Given the description of an element on the screen output the (x, y) to click on. 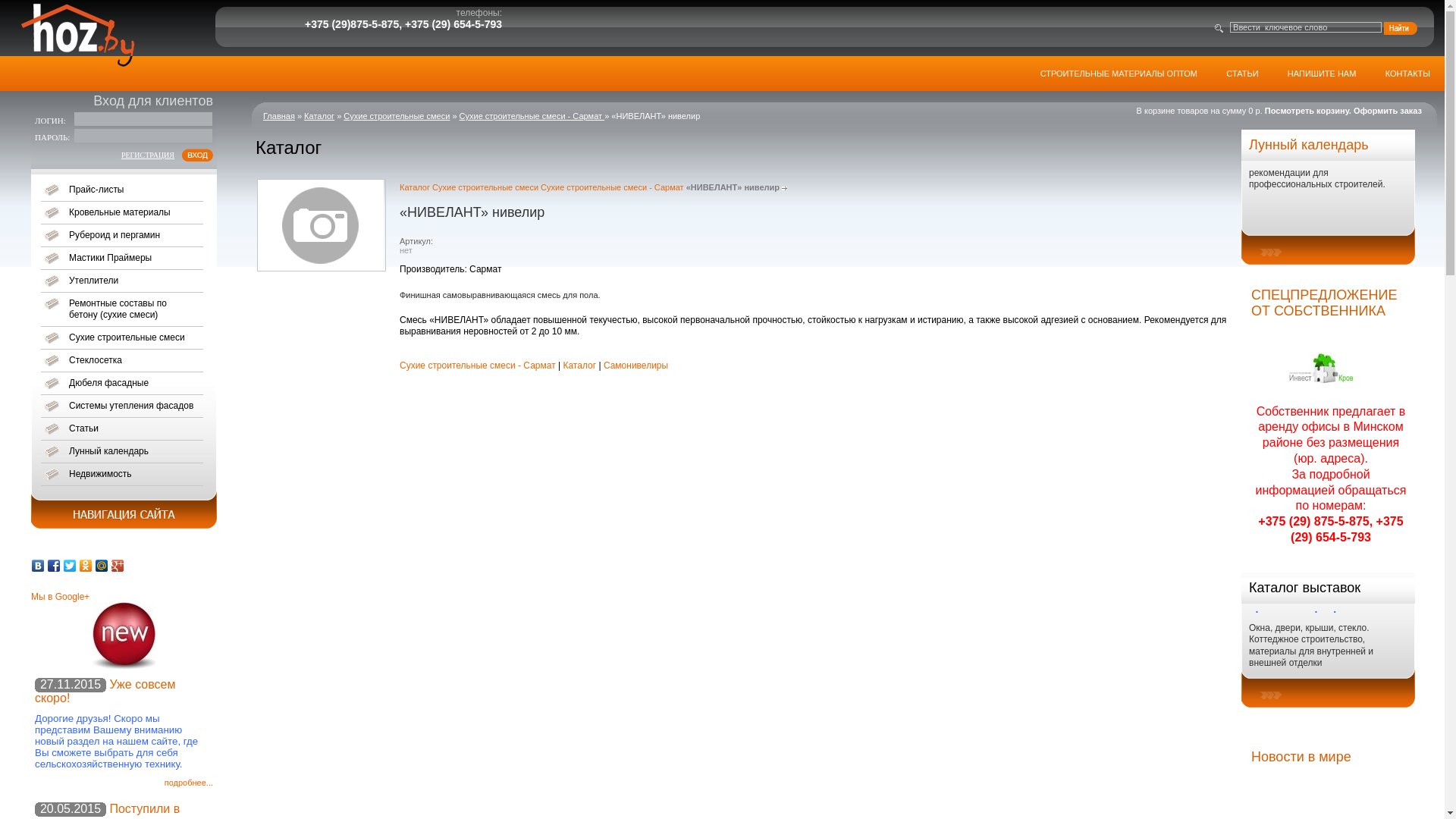
Google Plus Element type: hover (117, 565)
Facebook Element type: hover (54, 565)
Twitter Element type: hover (70, 565)
